Given the description of an element on the screen output the (x, y) to click on. 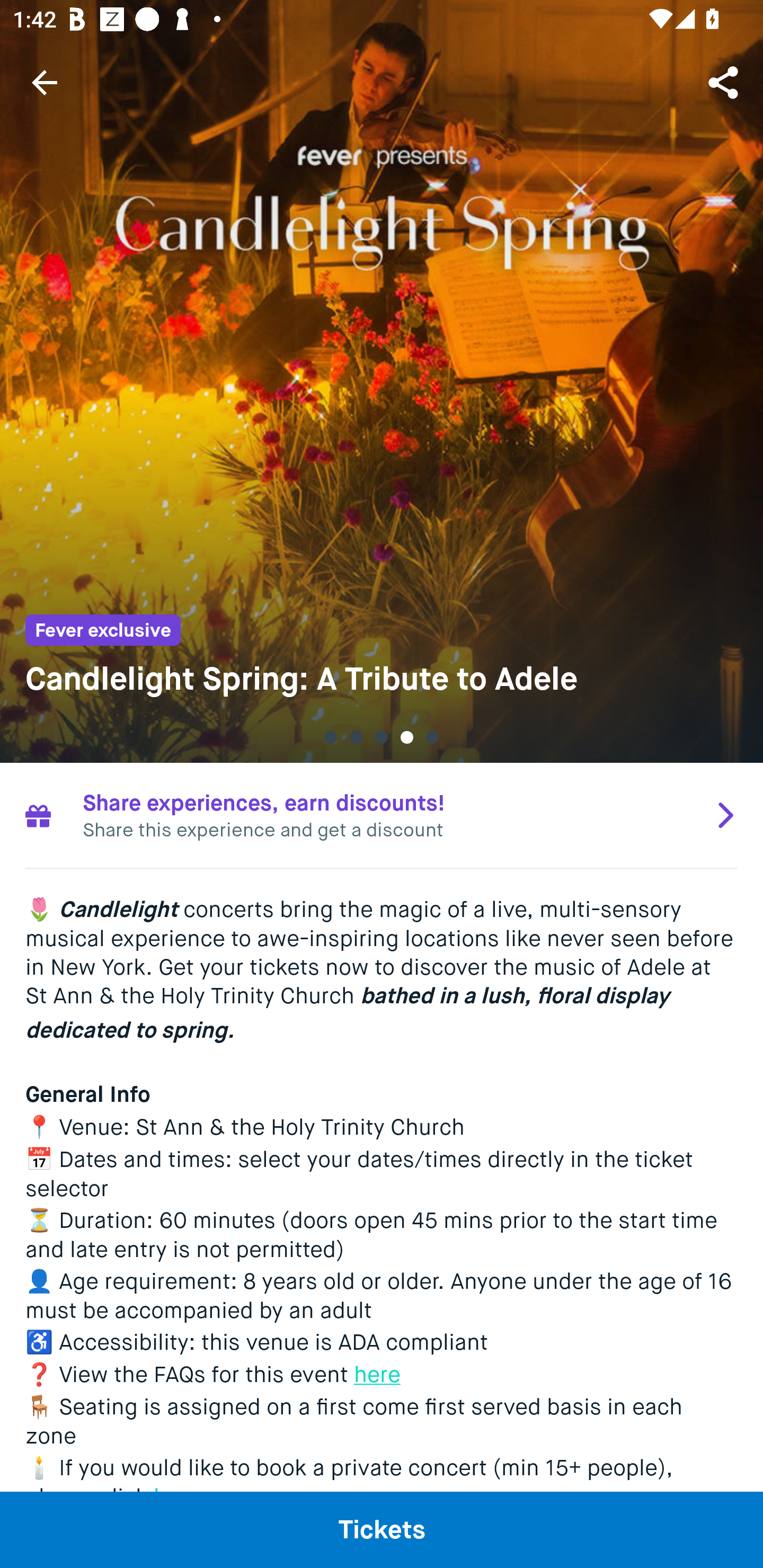
Navigate up (44, 82)
Share (724, 81)
Tickets (381, 1529)
